Given the description of an element on the screen output the (x, y) to click on. 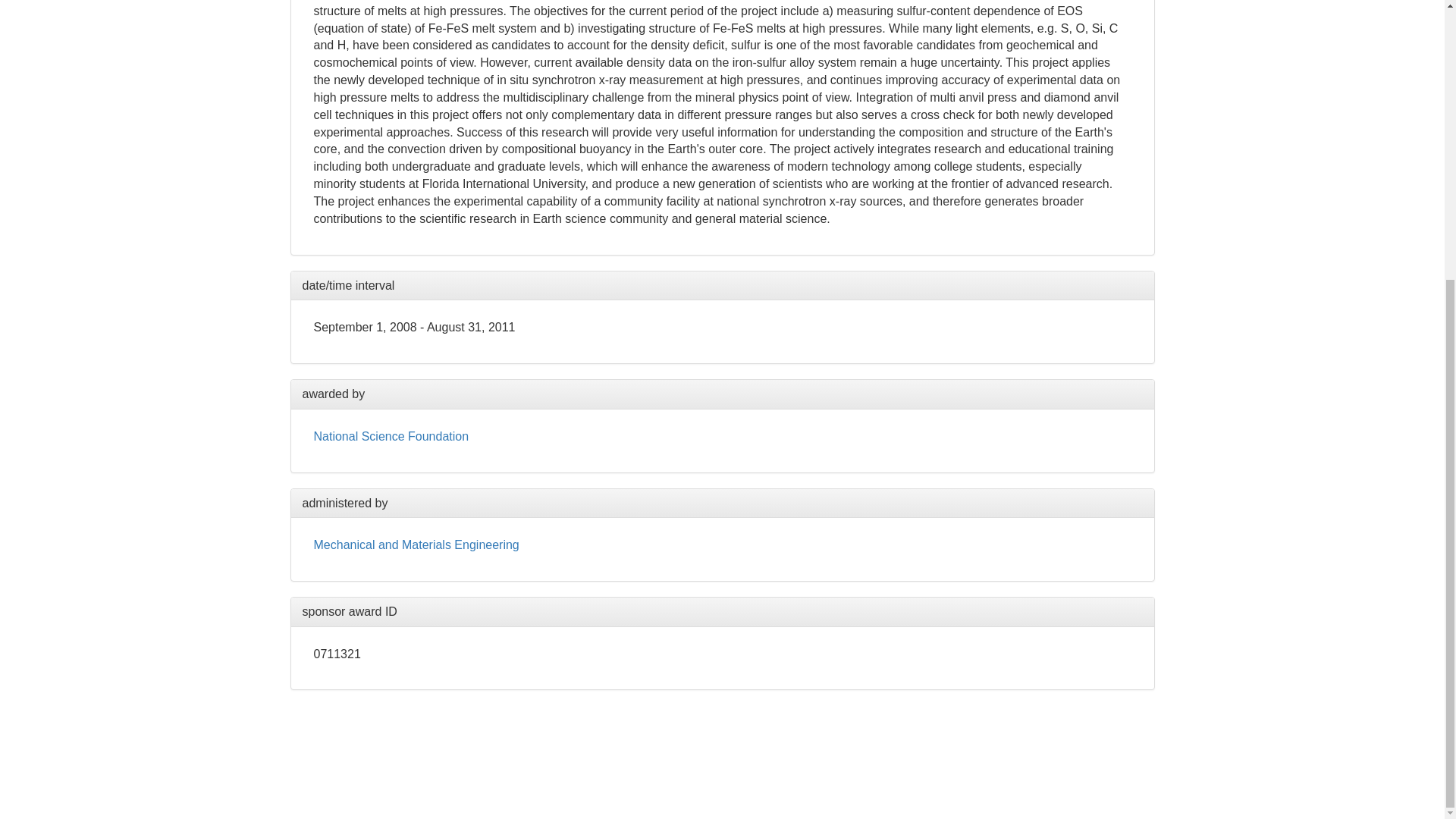
National Science Foundation (391, 436)
name (391, 436)
organization name (416, 544)
Mechanical and Materials Engineering (416, 544)
